Given the description of an element on the screen output the (x, y) to click on. 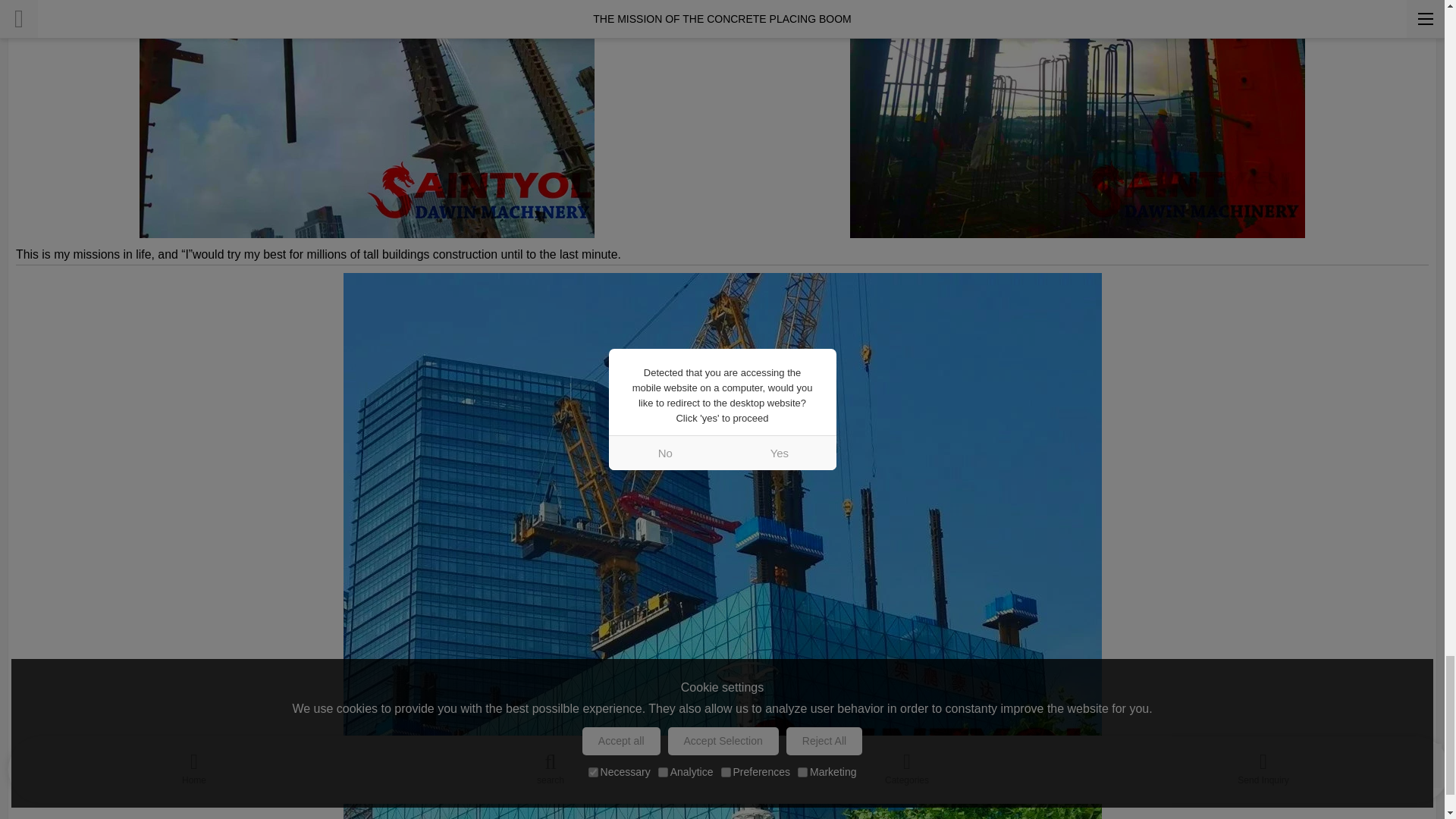
tower jack up concrete placing boom (1077, 119)
